Given the description of an element on the screen output the (x, y) to click on. 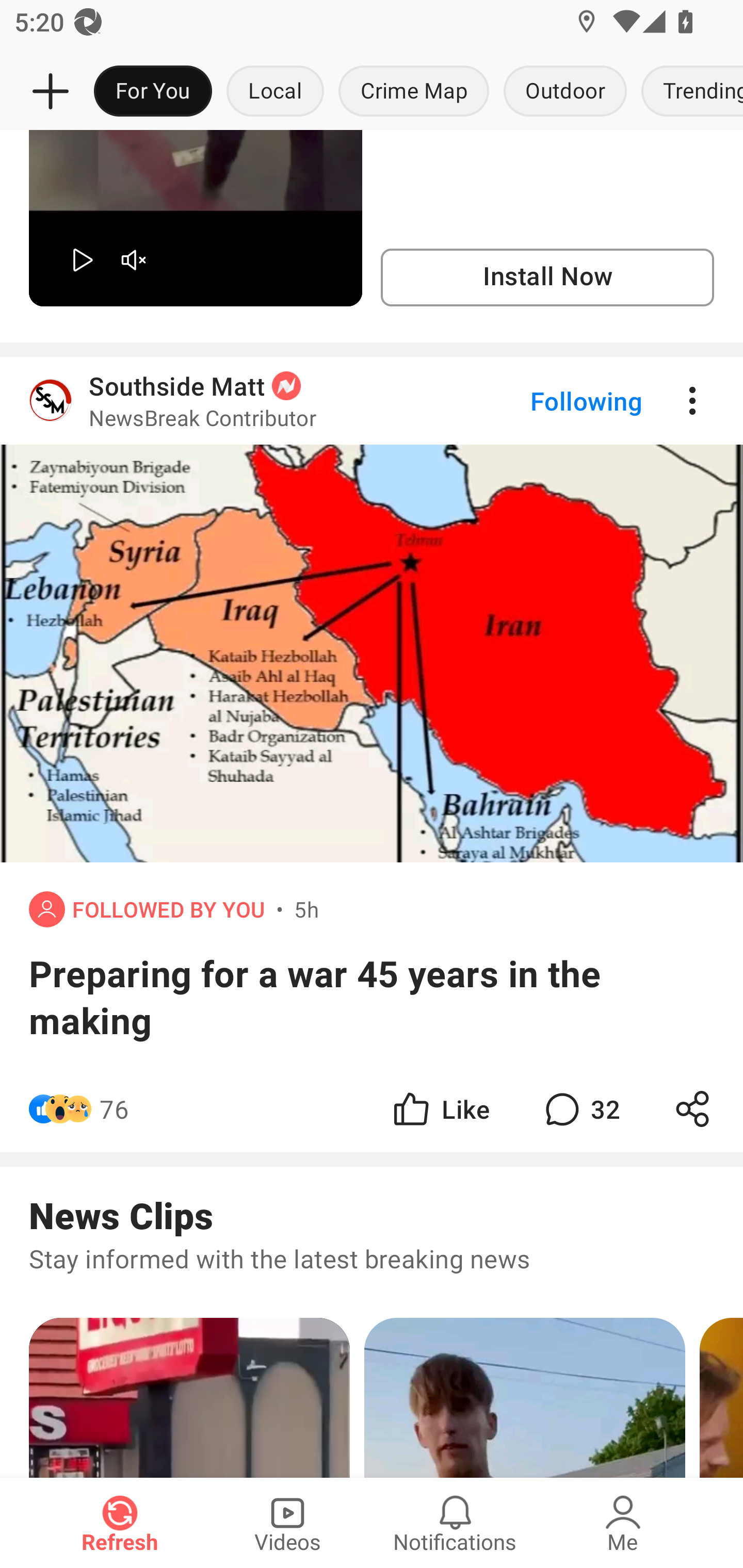
For You (152, 91)
Local (275, 91)
Crime Map (413, 91)
Outdoor (564, 91)
Trending (688, 91)
Install Now (547, 277)
Southside Matt NewsBreak Contributor Following (371, 401)
Following (569, 401)
76 (113, 1109)
Like (439, 1109)
32 (579, 1109)
Videos (287, 1522)
Notifications (455, 1522)
Me (622, 1522)
